Given the description of an element on the screen output the (x, y) to click on. 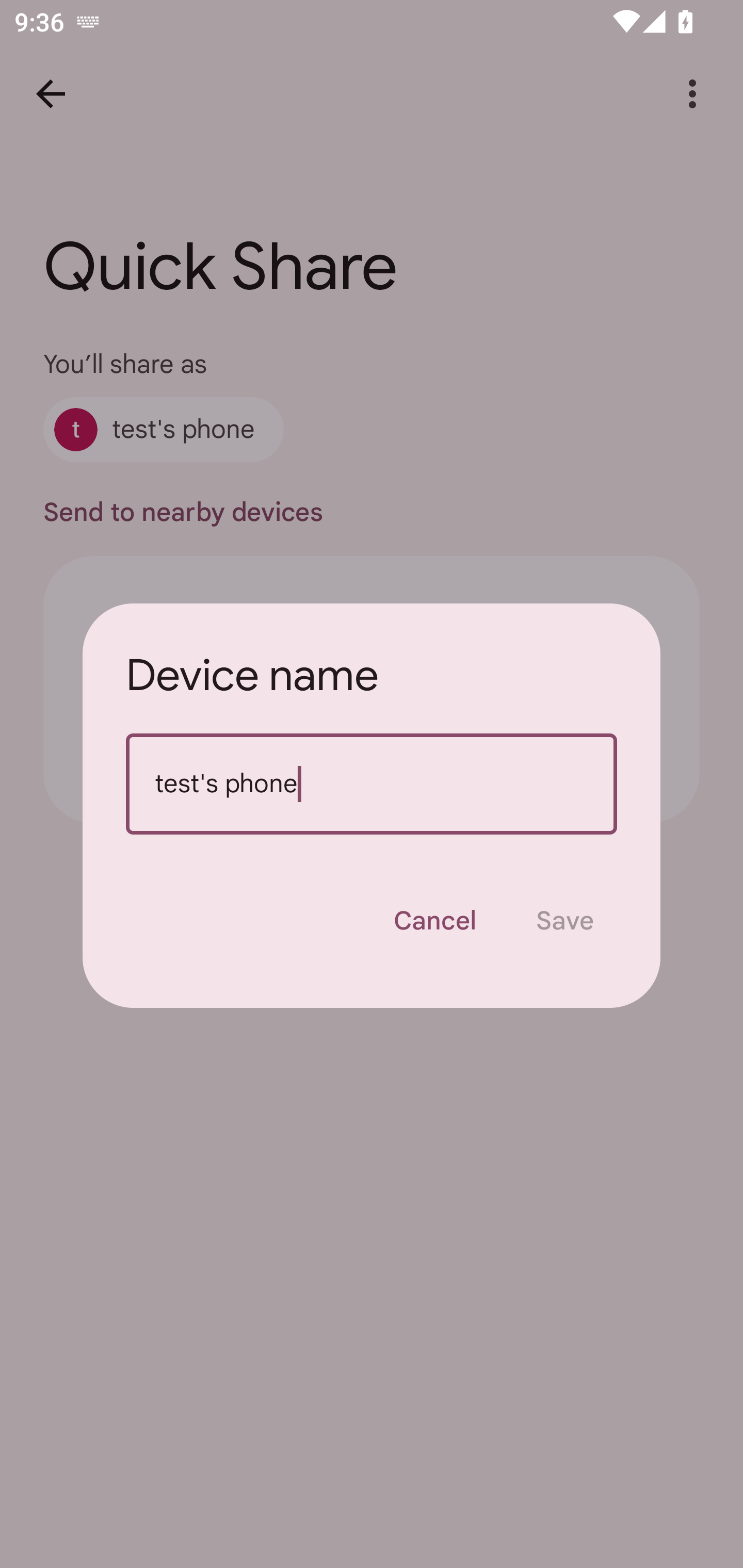
test's phone Device name (371, 783)
Cancel (434, 921)
Save (564, 921)
